Given the description of an element on the screen output the (x, y) to click on. 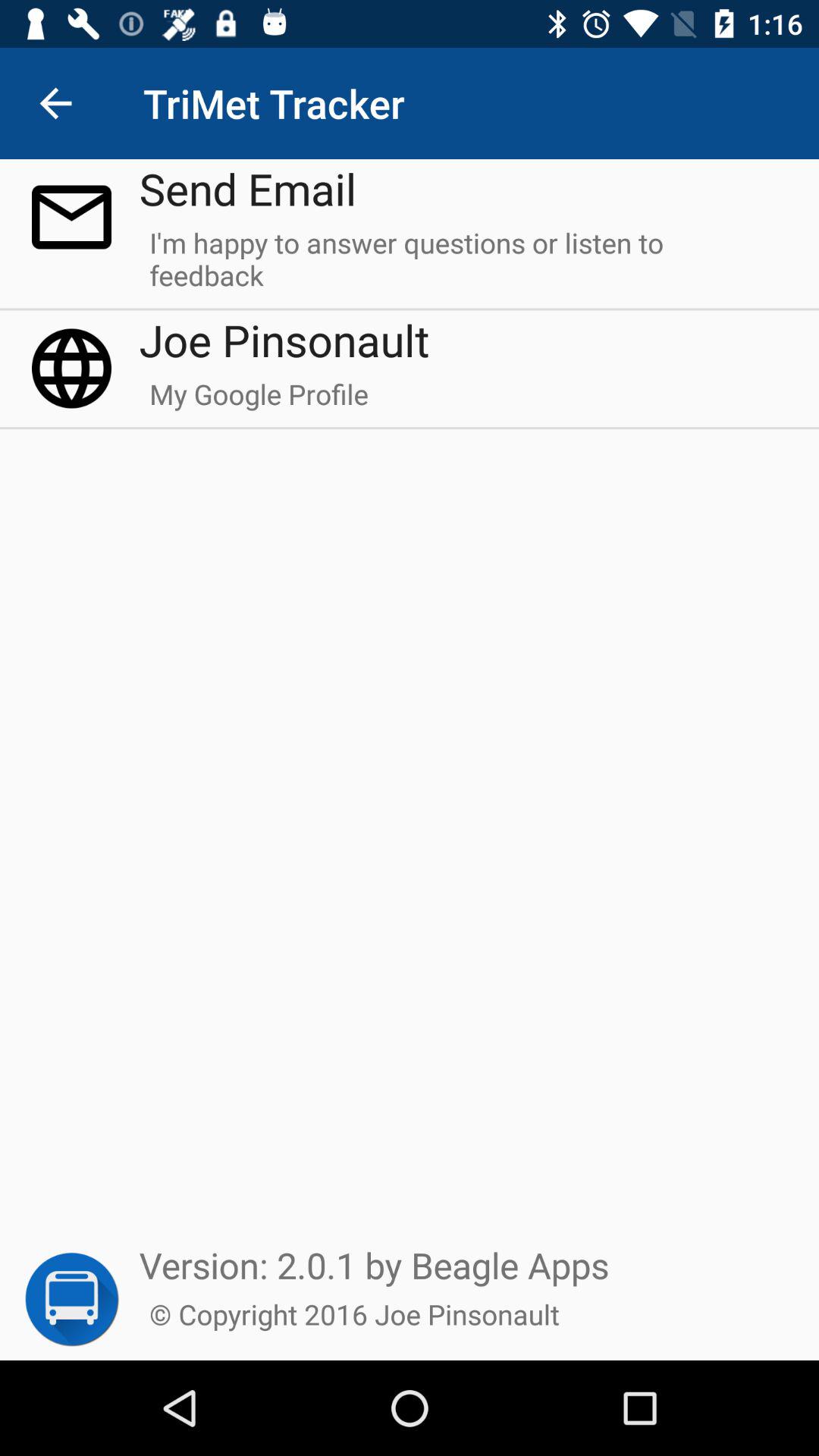
select icon to the left of send email (55, 103)
